Given the description of an element on the screen output the (x, y) to click on. 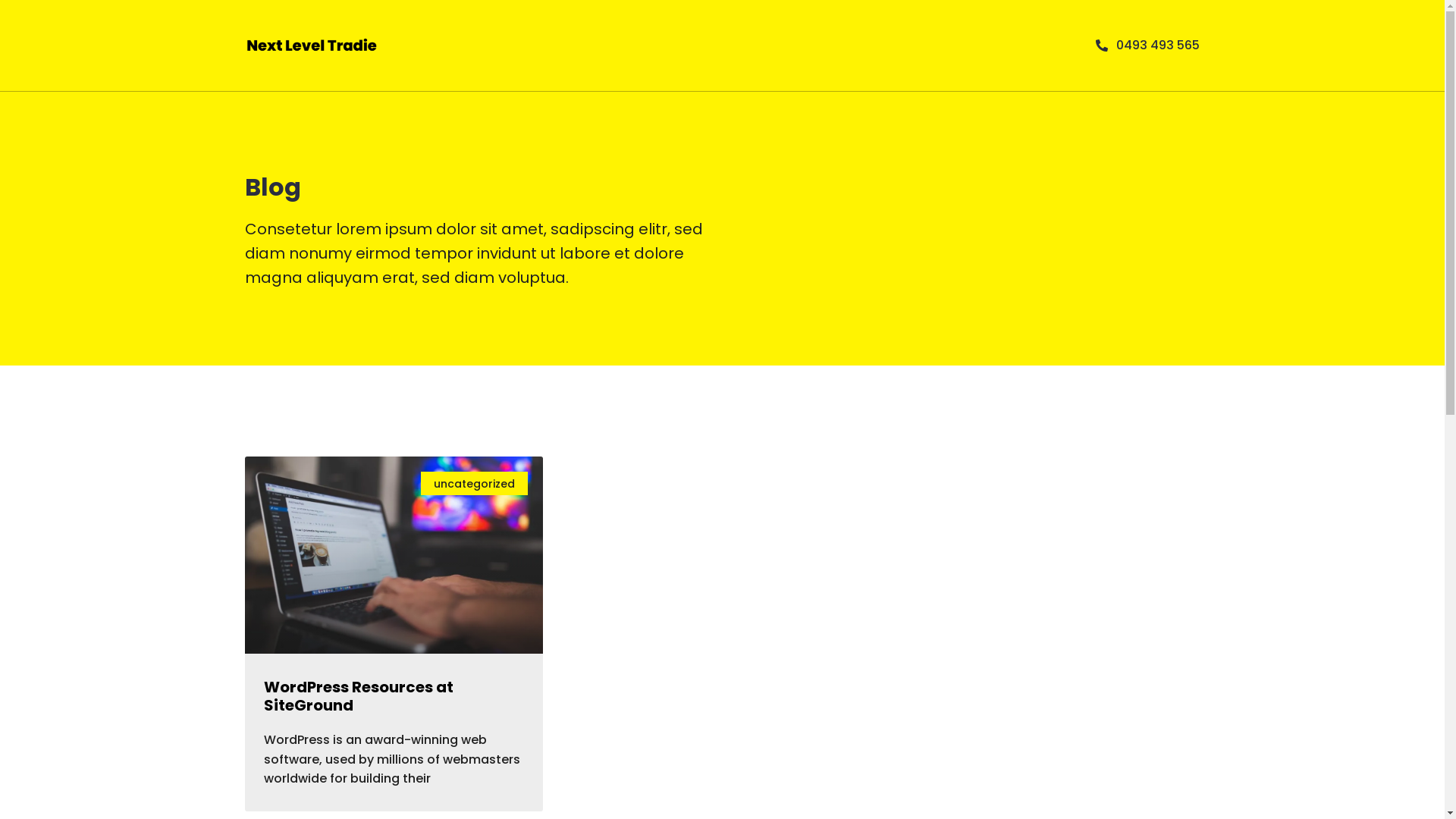
0493 493 565 Element type: text (1145, 45)
WordPress Resources at SiteGround Element type: text (358, 695)
